Given the description of an element on the screen output the (x, y) to click on. 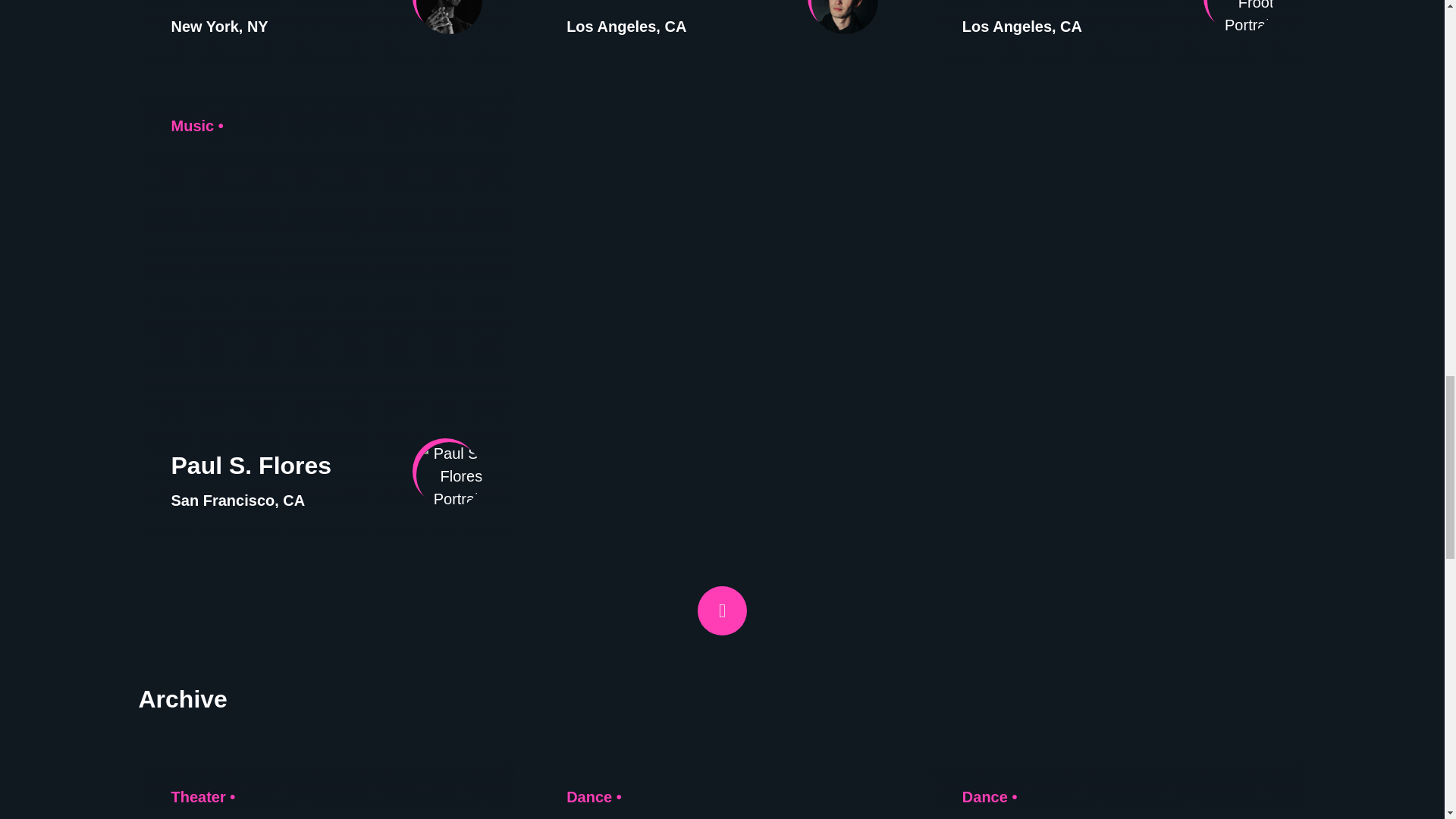
Theater (198, 796)
Music (192, 125)
Dance (984, 796)
Dance (588, 796)
